Given the description of an element on the screen output the (x, y) to click on. 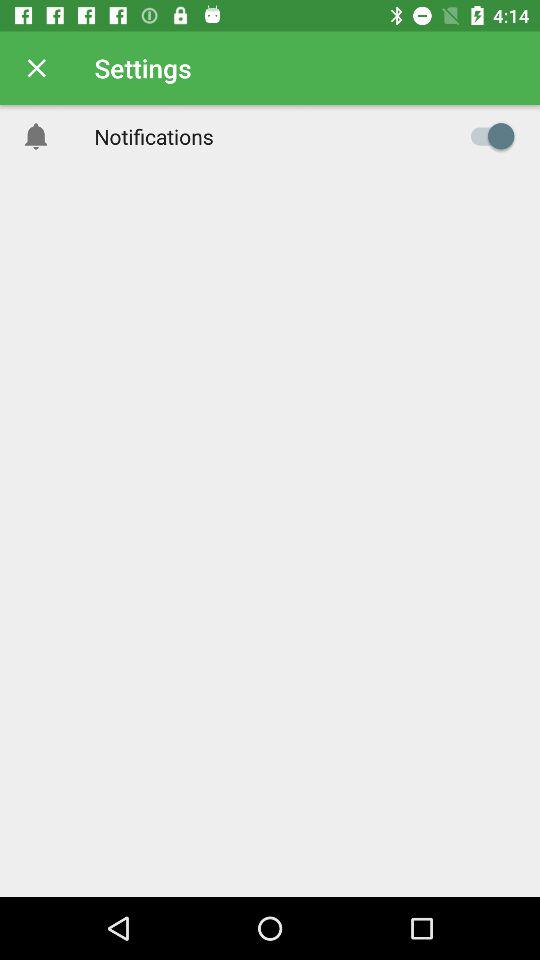
toggle notifications (487, 136)
